Given the description of an element on the screen output the (x, y) to click on. 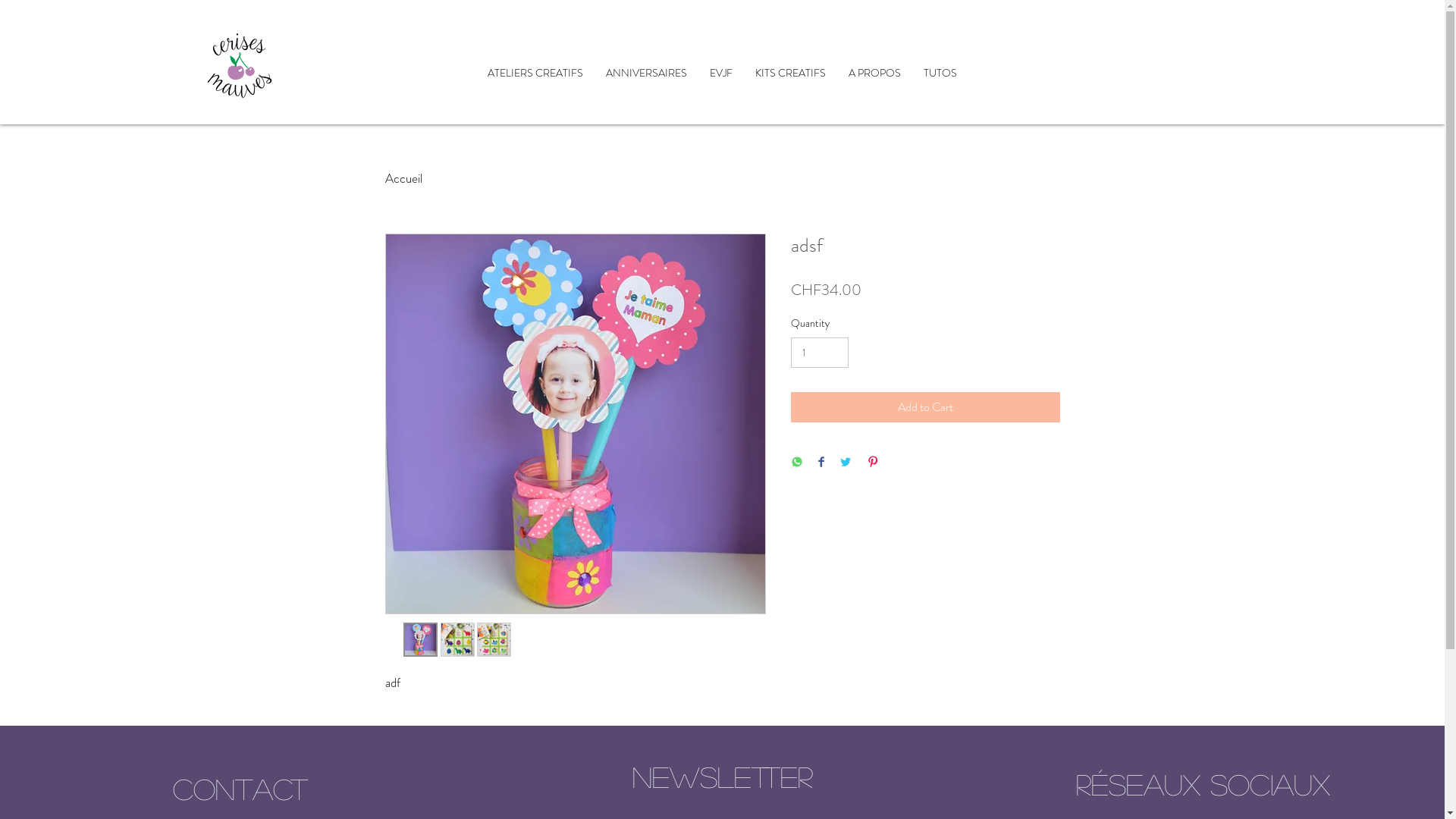
EVJF Element type: text (720, 72)
Accueil Element type: text (403, 178)
TUTOS Element type: text (940, 72)
Accueil Element type: hover (238, 65)
Add to Cart Element type: text (924, 407)
A PROPOS Element type: text (874, 72)
